Given the description of an element on the screen output the (x, y) to click on. 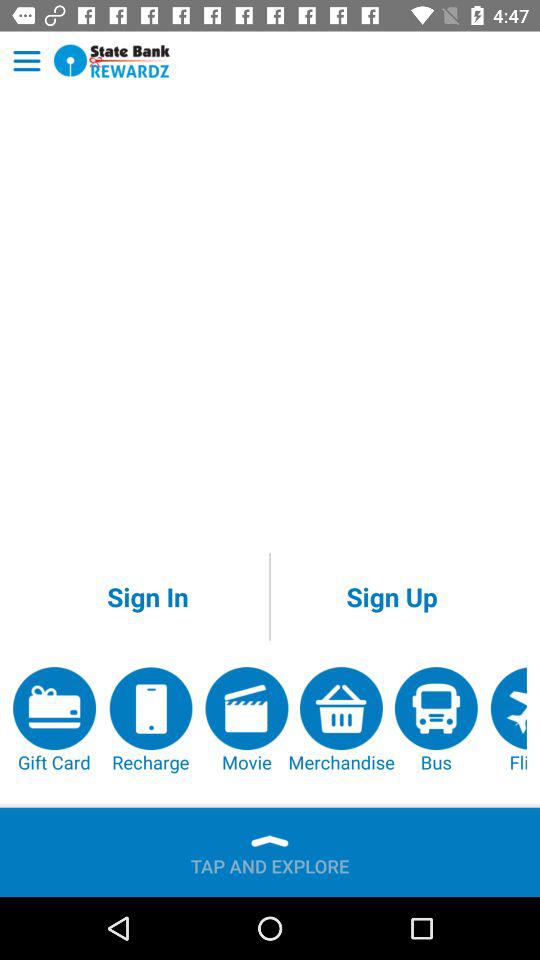
open the gift card icon (54, 720)
